Given the description of an element on the screen output the (x, y) to click on. 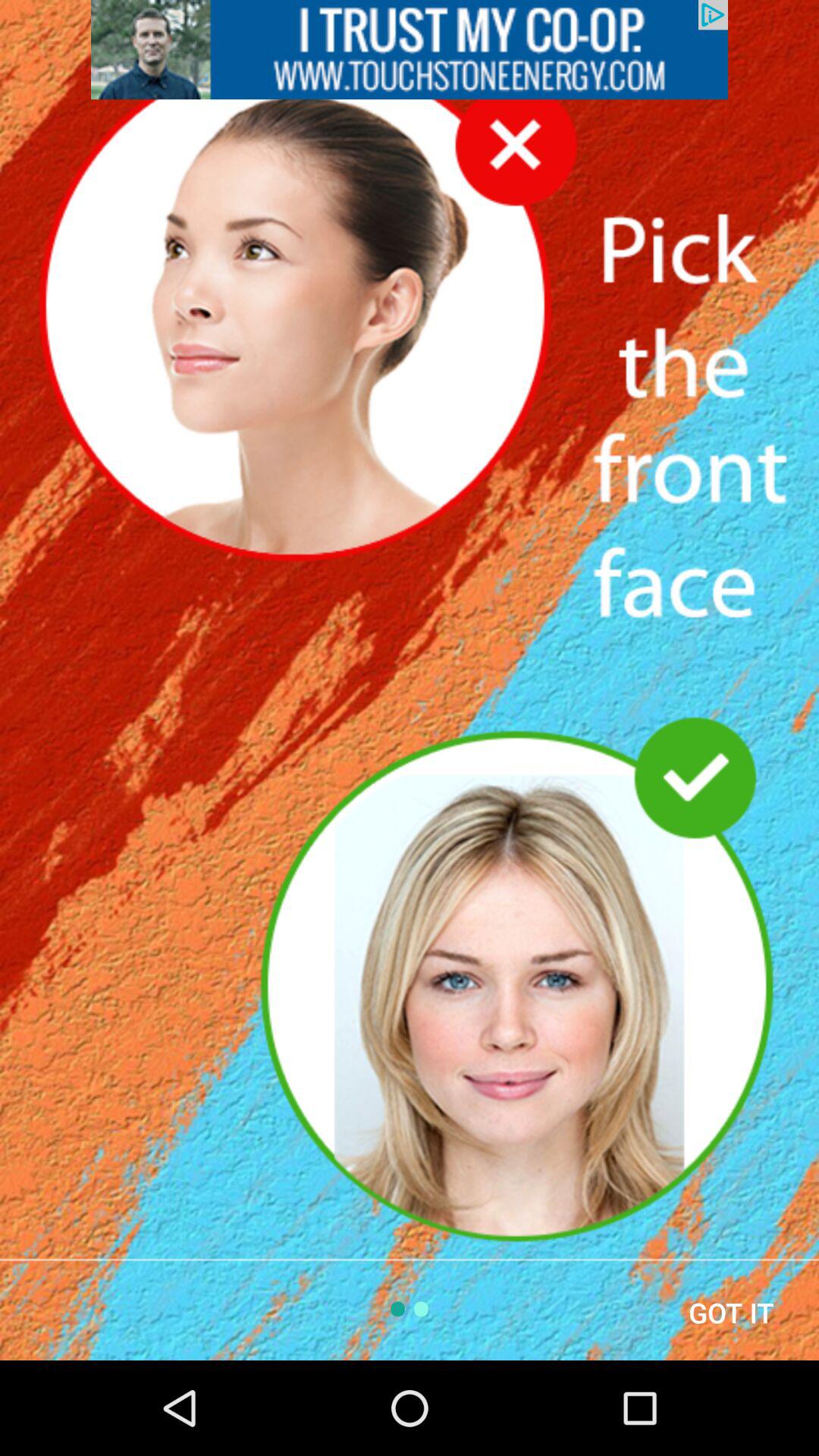
banner advertisement (409, 49)
